Given the description of an element on the screen output the (x, y) to click on. 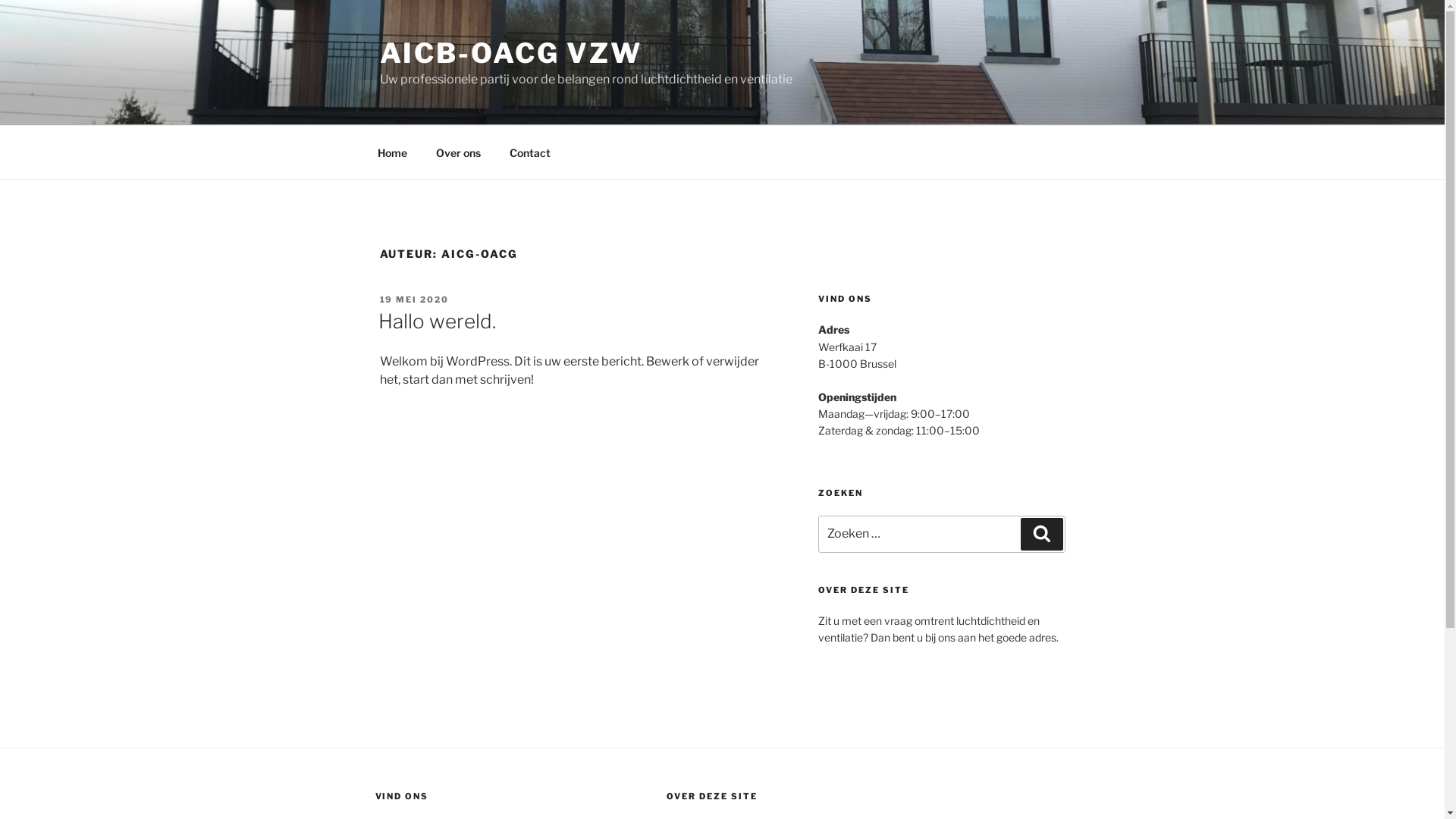
19 MEI 2020 Element type: text (413, 299)
Skip to content Element type: text (0, 0)
AICB-OACG VZW Element type: text (510, 52)
Over ons Element type: text (458, 151)
Hallo wereld. Element type: text (436, 320)
Zoeken Element type: text (1041, 533)
Home Element type: text (392, 151)
Contact Element type: text (529, 151)
